Given the description of an element on the screen output the (x, y) to click on. 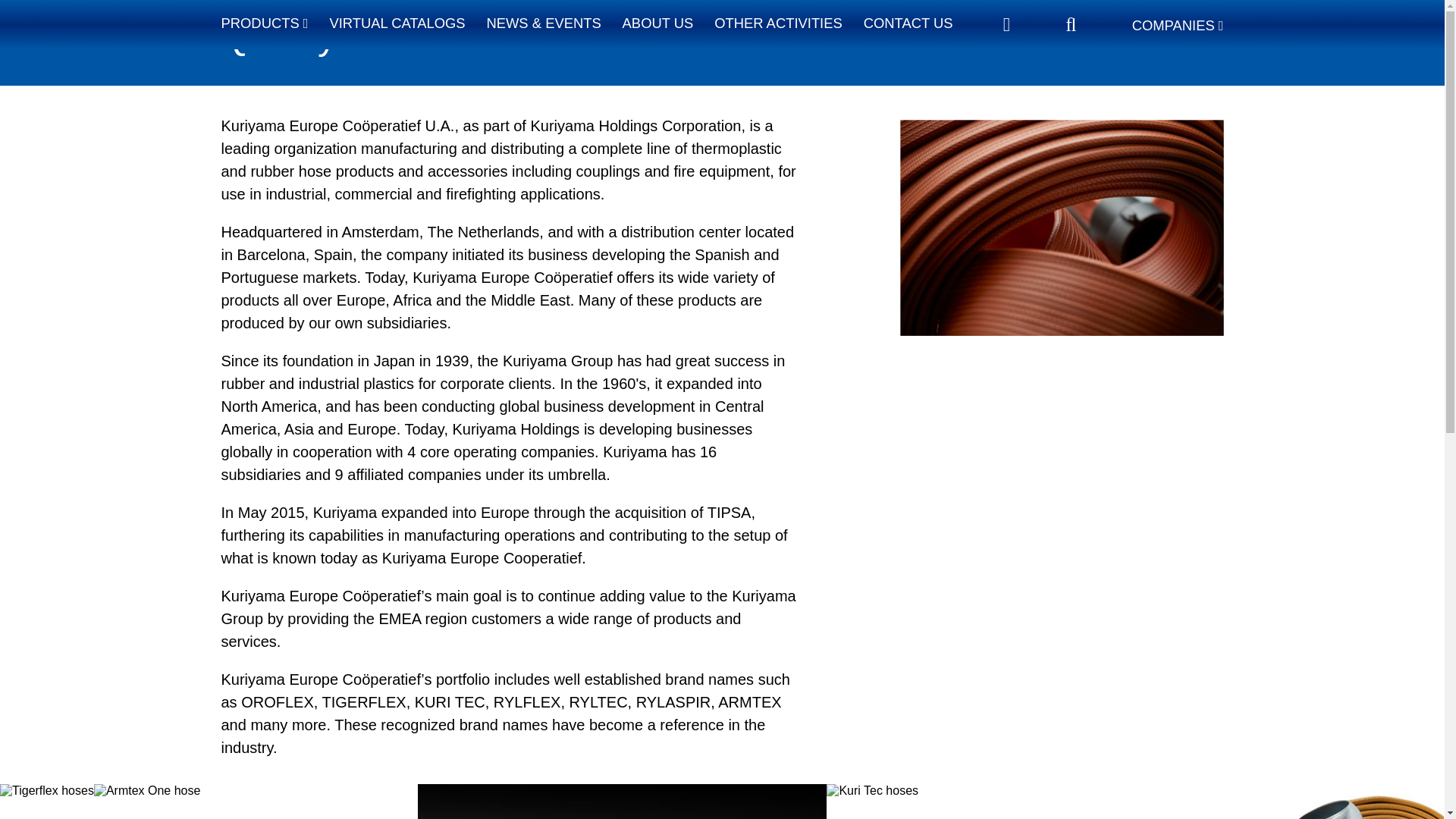
ABOUT US (658, 23)
CONTACT US (908, 23)
VIRTUAL CATALOGS (396, 23)
Products (264, 23)
OTHER ACTIVITIES (778, 23)
Other Activities (778, 23)
About us (658, 23)
Contact us (908, 23)
Virtual Catalogs (396, 23)
PRODUCTS (264, 23)
